Given the description of an element on the screen output the (x, y) to click on. 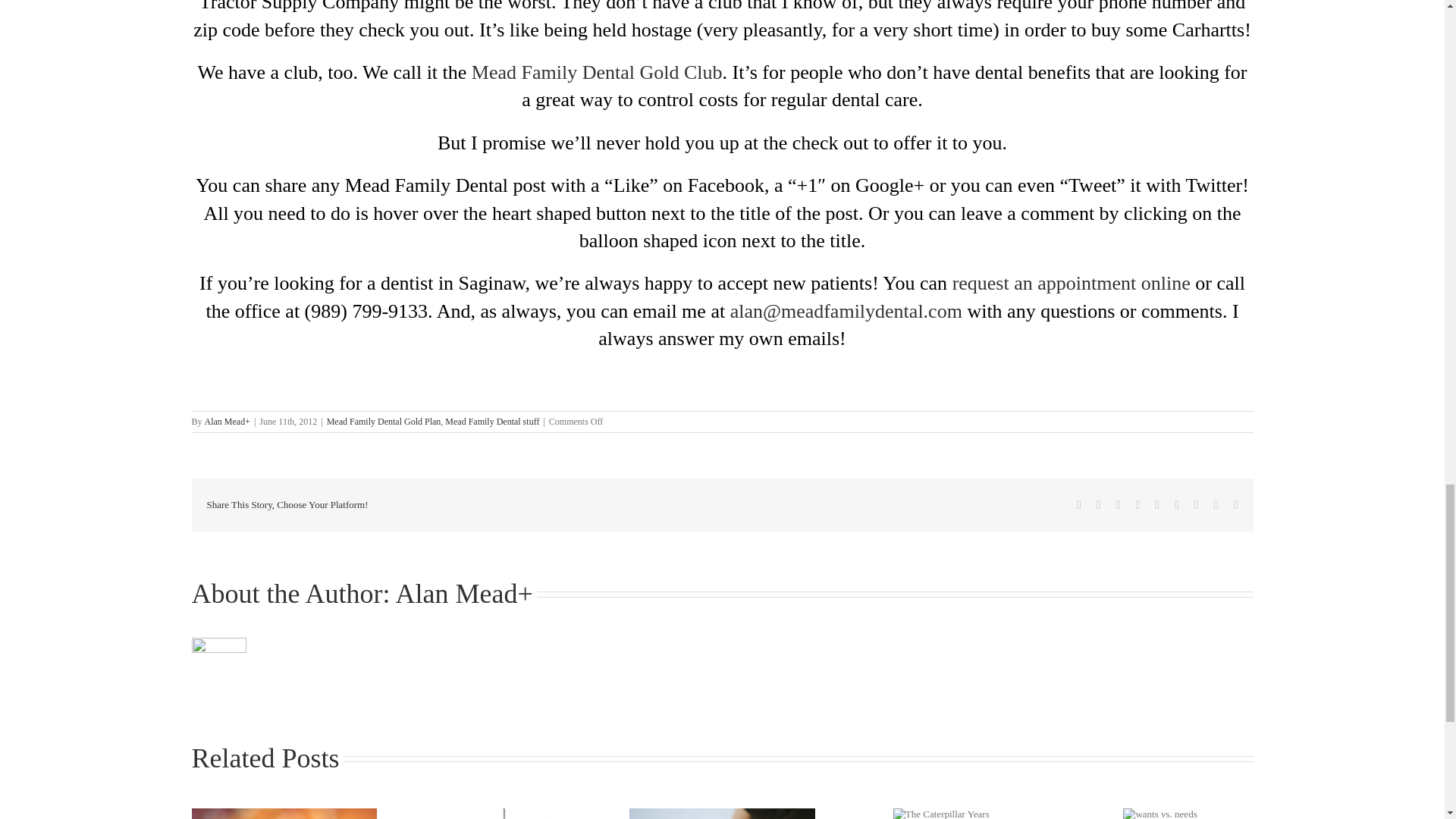
Mead Family Dental Gold Club (596, 72)
Mead Family Dental Gold Plan (383, 421)
Pinterest (1195, 504)
Vk (1216, 504)
request an appointment online (1071, 282)
Pinterest (1195, 504)
Reddit (1118, 504)
Email (1236, 504)
Tumblr (1176, 504)
Reddit (1118, 504)
WhatsApp (1156, 504)
Twitter (1098, 504)
Posts by Alan Mead (457, 593)
Mead Family Dental stuff (491, 421)
LinkedIn (1137, 504)
